Given the description of an element on the screen output the (x, y) to click on. 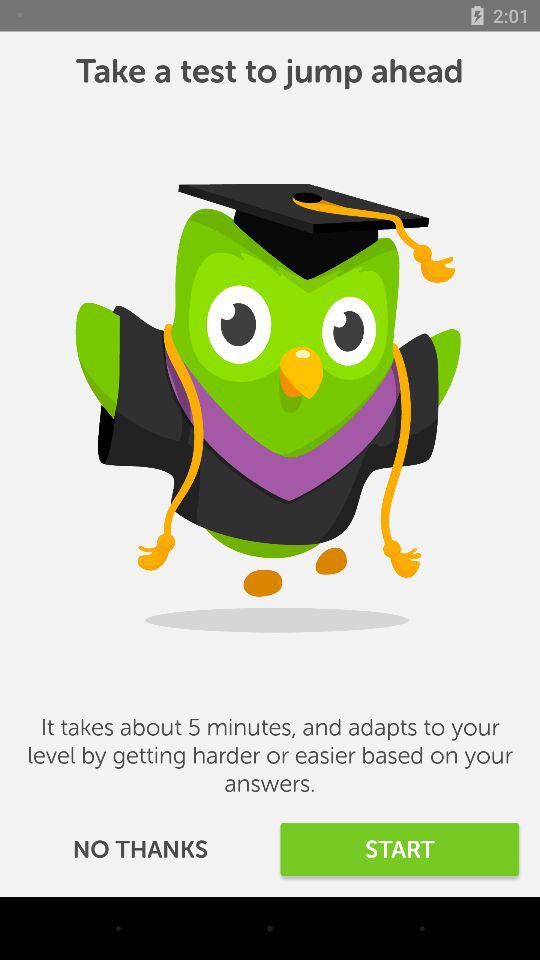
tap the icon at the bottom right corner (399, 849)
